Given the description of an element on the screen output the (x, y) to click on. 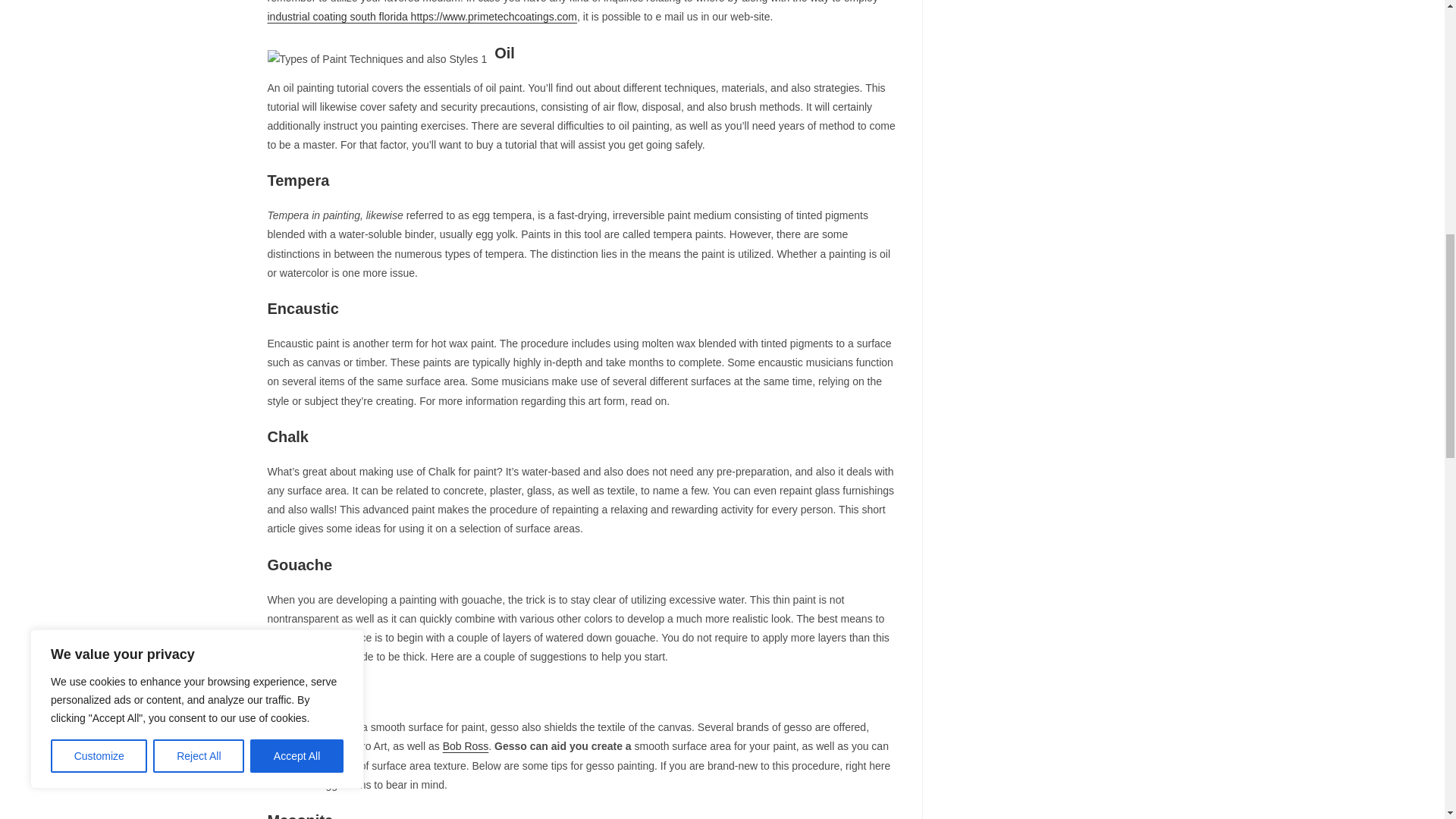
Bob Ross (465, 746)
